Given the description of an element on the screen output the (x, y) to click on. 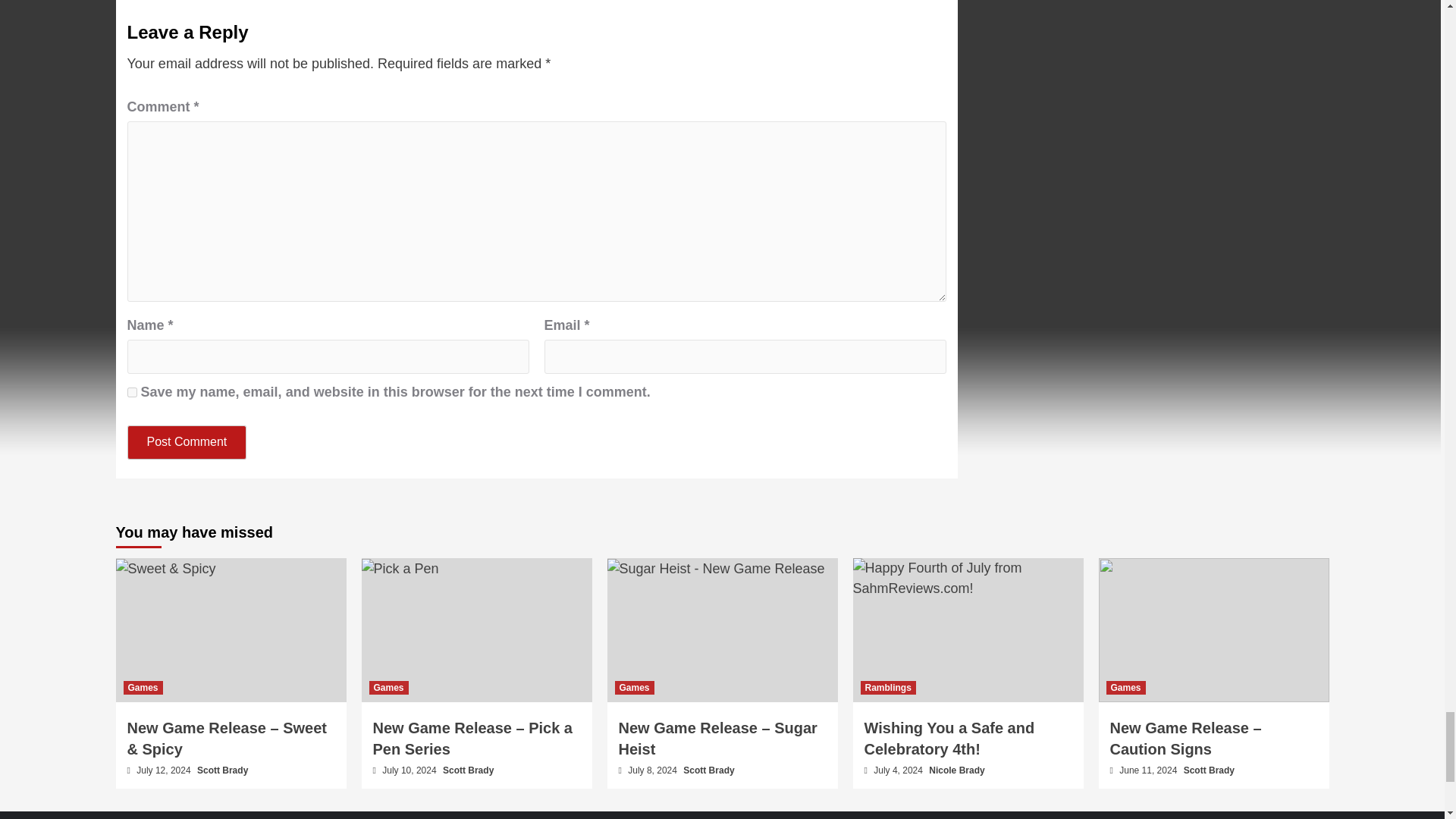
Post Comment (187, 442)
yes (132, 392)
